Given the description of an element on the screen output the (x, y) to click on. 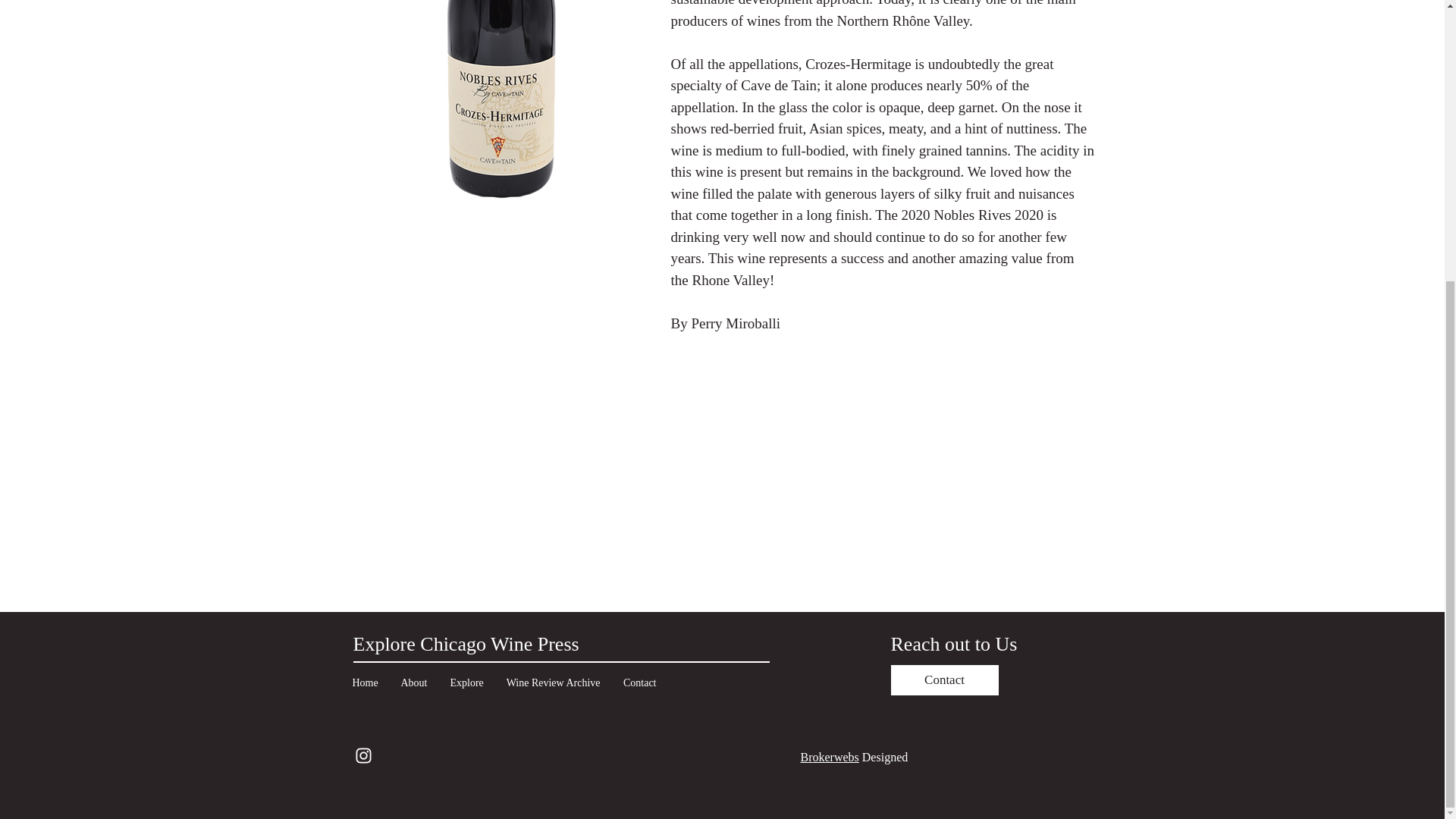
Wine Review Archive (553, 682)
Contact (943, 680)
Home (365, 682)
Explore (466, 682)
About (414, 682)
Contact (638, 682)
Brokerwebs (829, 757)
